Given the description of an element on the screen output the (x, y) to click on. 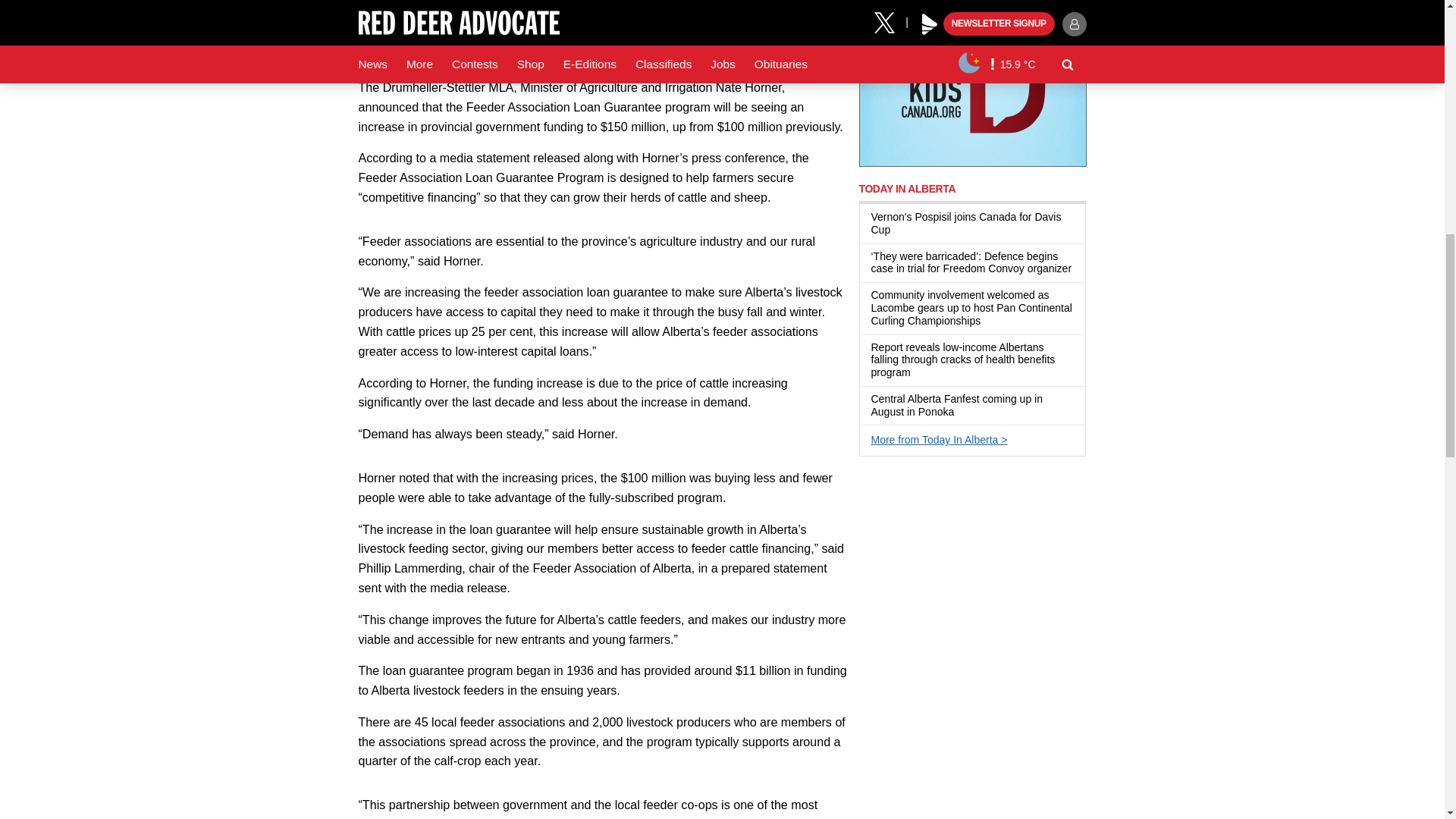
3rd party ad content (972, 83)
